Given the description of an element on the screen output the (x, y) to click on. 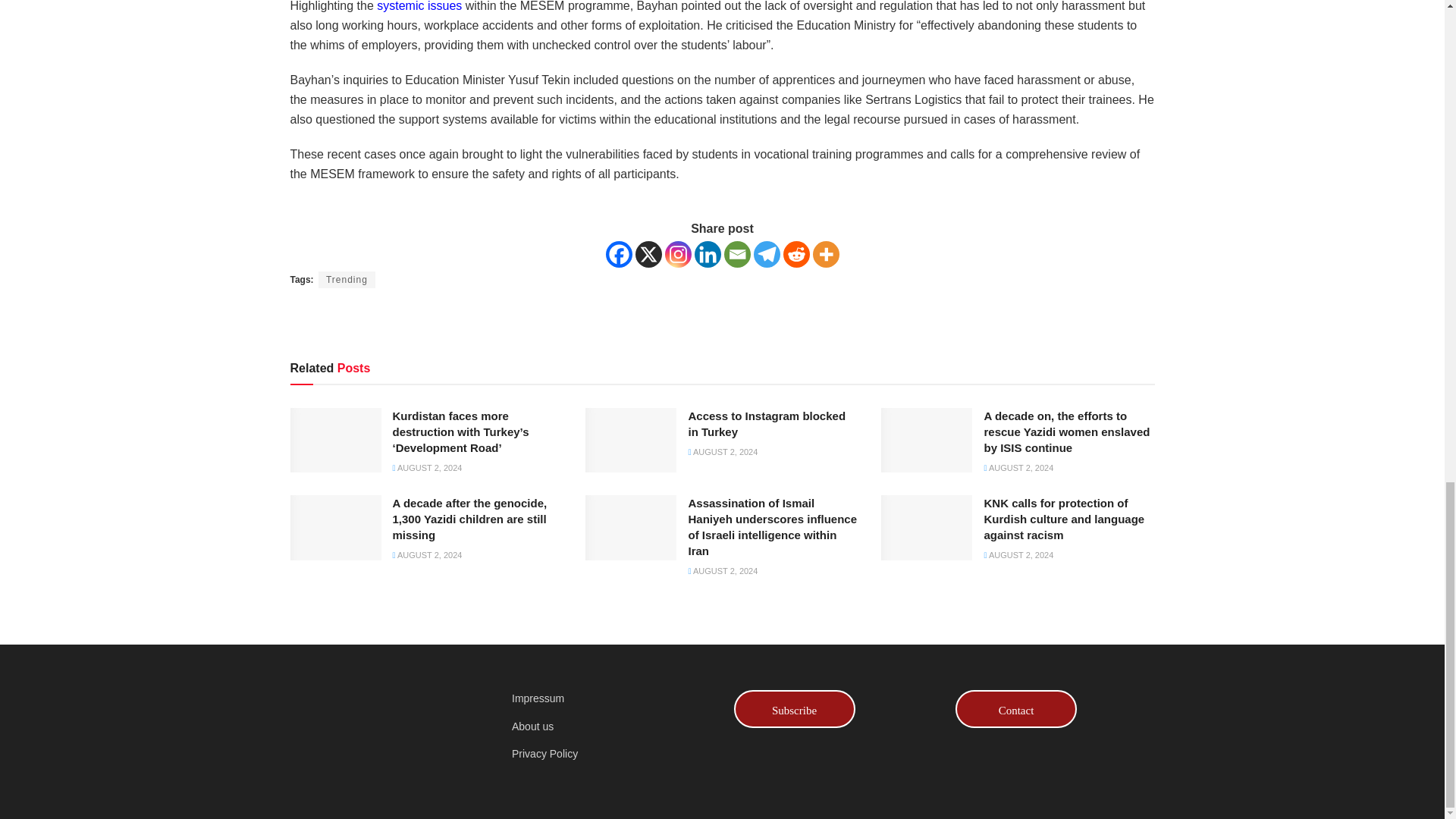
Linkedin (707, 253)
Facebook (618, 253)
X (648, 253)
Email (736, 253)
Telegram (767, 253)
Instagram (676, 253)
